Given the description of an element on the screen output the (x, y) to click on. 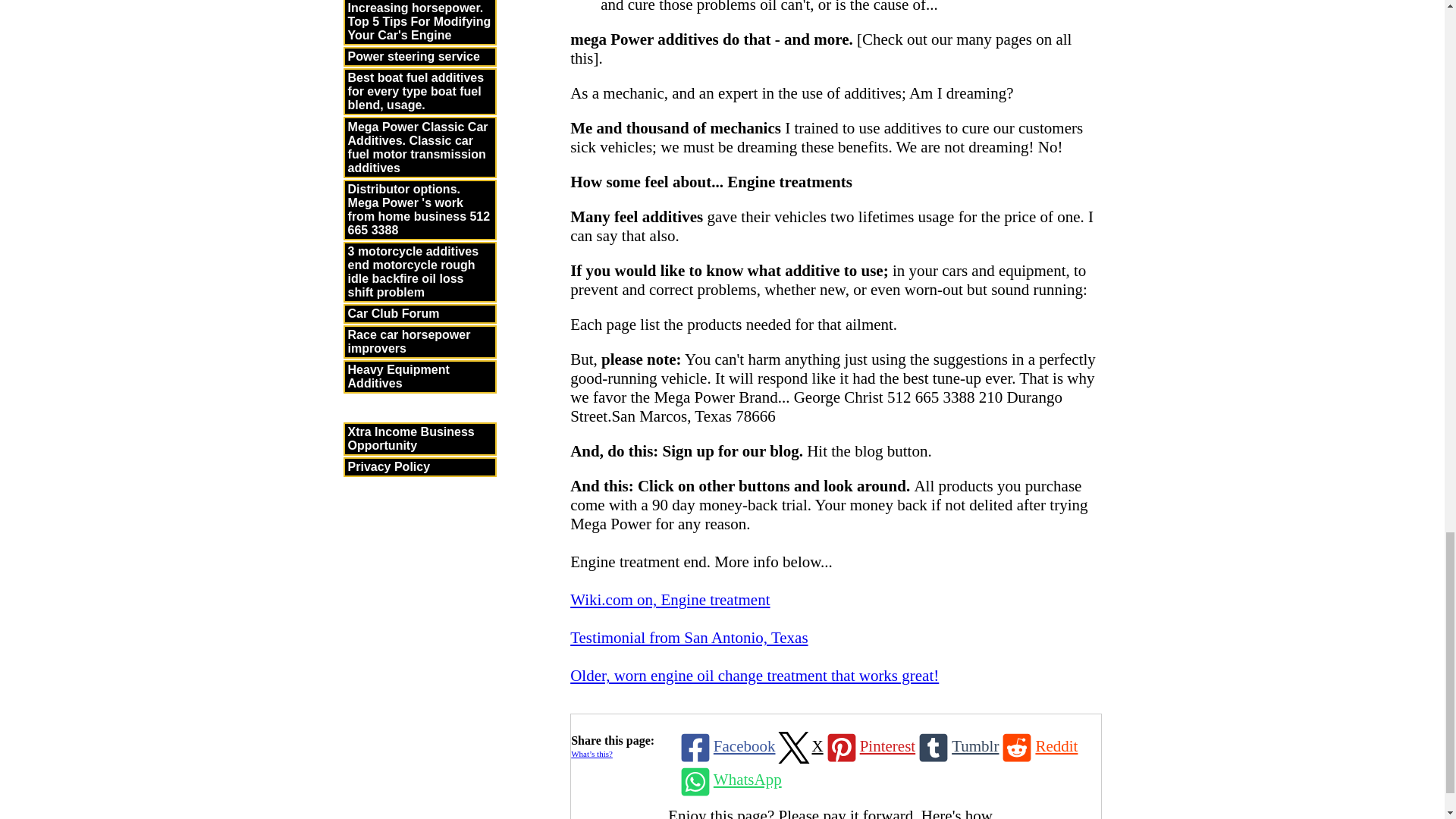
Xtra Income Business Opportunity (419, 438)
Car Club Forum (419, 313)
Heavy Equipment Additives (419, 376)
Race car horsepower improvers (419, 341)
Power steering service (419, 56)
